Given the description of an element on the screen output the (x, y) to click on. 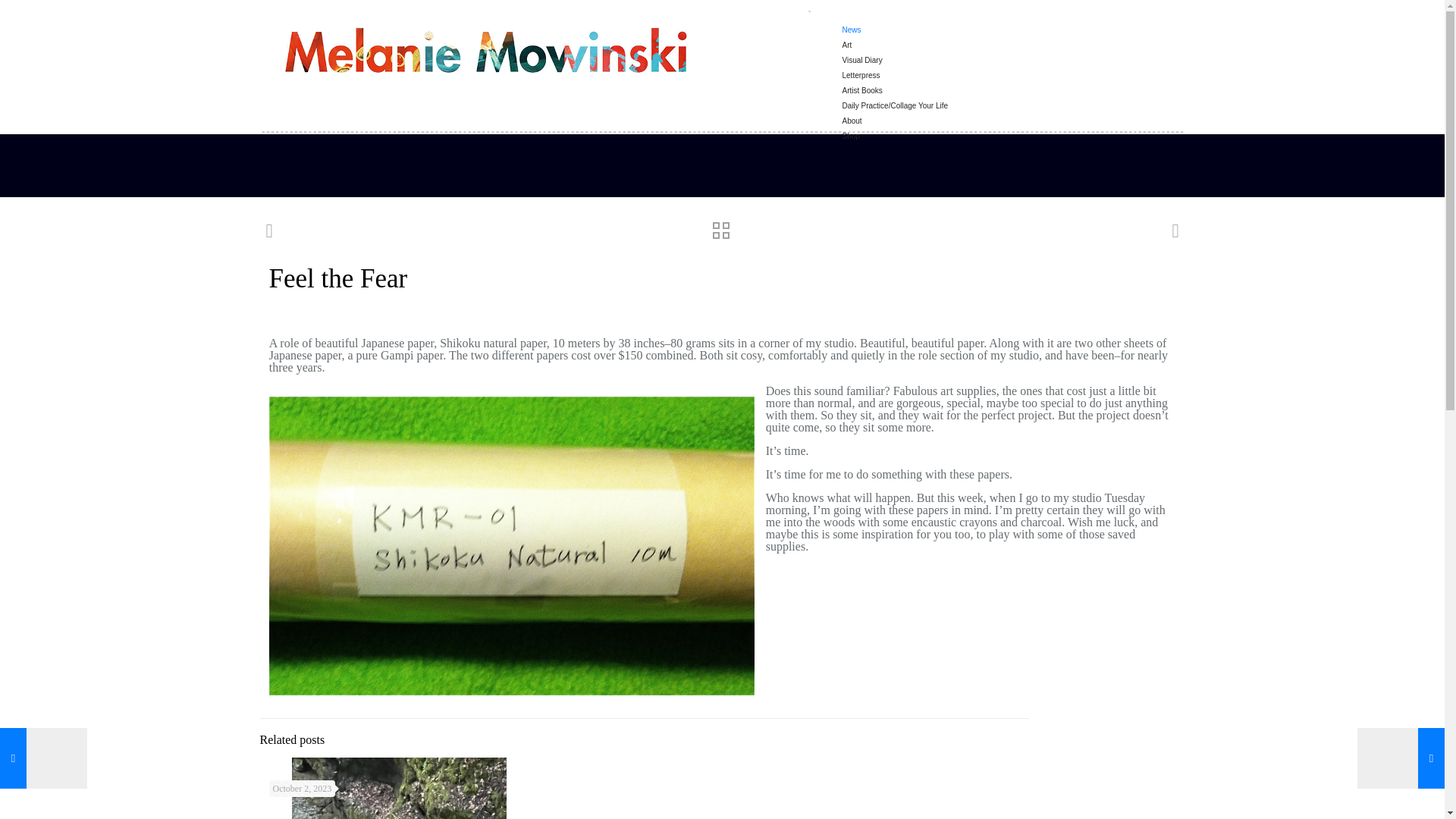
News (893, 14)
Visual Diary (893, 45)
About (893, 105)
Letterpress (893, 60)
Melanie Mowinski (484, 49)
Artist Books (893, 75)
Art (893, 29)
Shop (893, 120)
